Given the description of an element on the screen output the (x, y) to click on. 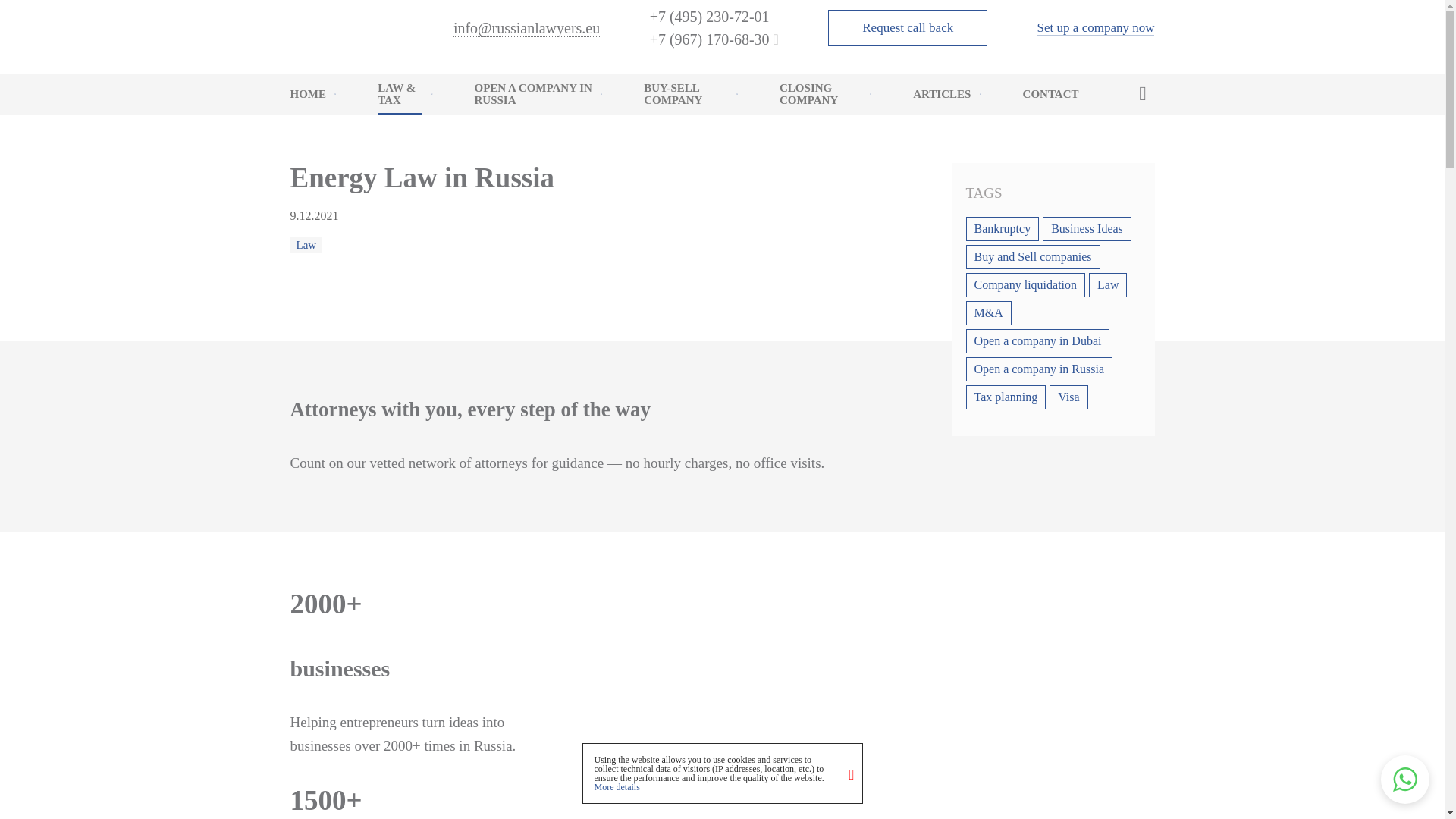
Litigation, Arbitration and Dispute Resolution (434, 386)
About Russian Lawyers (346, 133)
Visas (434, 479)
Employment Law (434, 292)
Tax (434, 133)
How with RussianLawyers makes it easy to start an LLC (531, 133)
Energy Law in Russia (434, 261)
Set up a company now (1095, 28)
How to Find the best Lawyer in Russia (346, 171)
Insolvency, Bankruptcy and Restructuring (434, 323)
Open a Travel Agency in Russia (531, 323)
Open Company in the Healthcare Sector (531, 292)
Environmental (434, 448)
Open company in the Construction sector of Russia (531, 261)
HOME (312, 93)
